Given the description of an element on the screen output the (x, y) to click on. 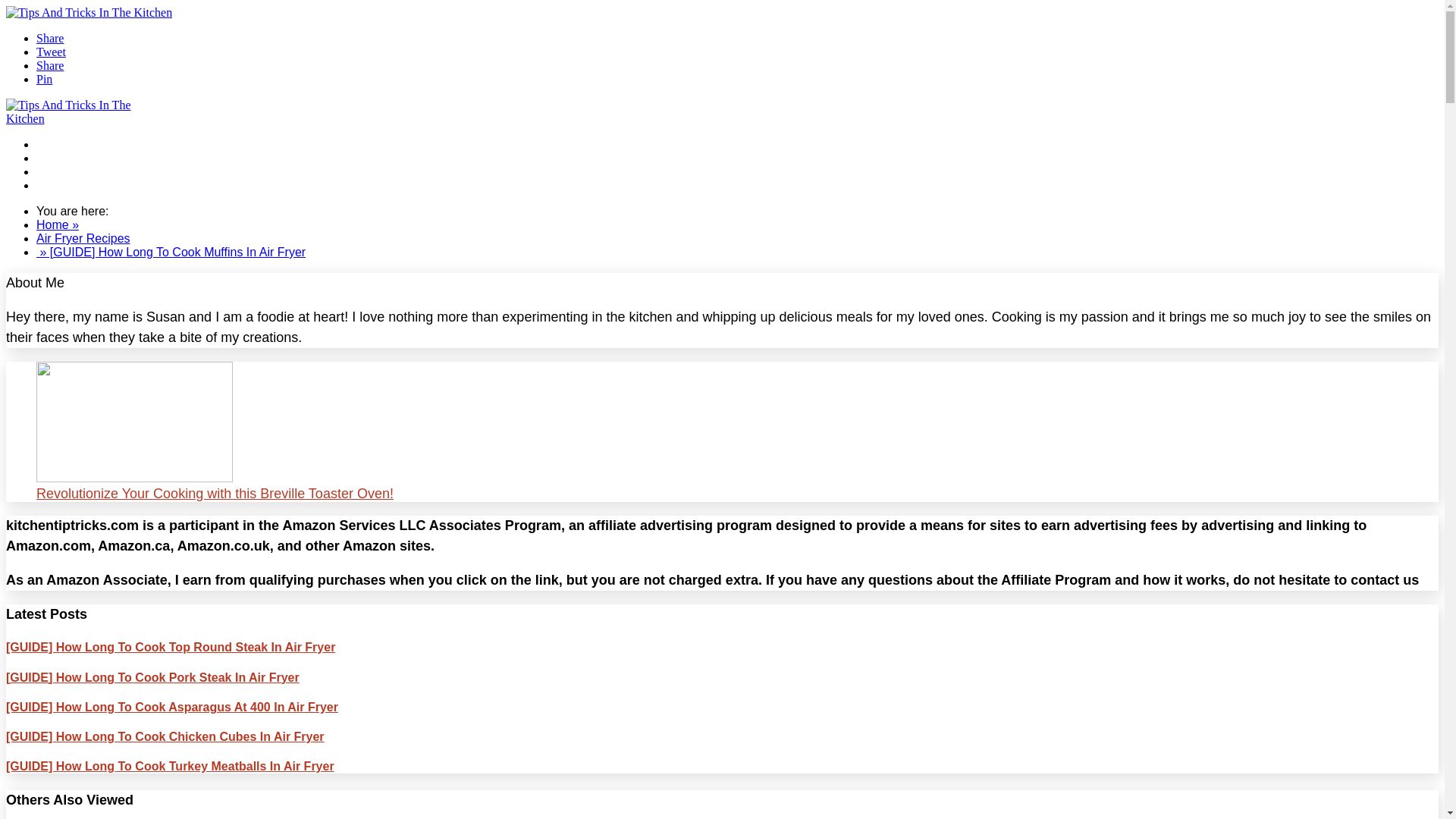
Share (50, 65)
Tweet (50, 51)
Air Fryer Recipes (83, 185)
Oven Cook Time (81, 144)
Freezing Tips (72, 157)
Share (50, 38)
Revolutionize Your Cooking with this Breville Toaster Oven! (721, 486)
Cooking Tips (71, 171)
Air Fryer Recipes (83, 237)
Pin (44, 78)
